Given the description of an element on the screen output the (x, y) to click on. 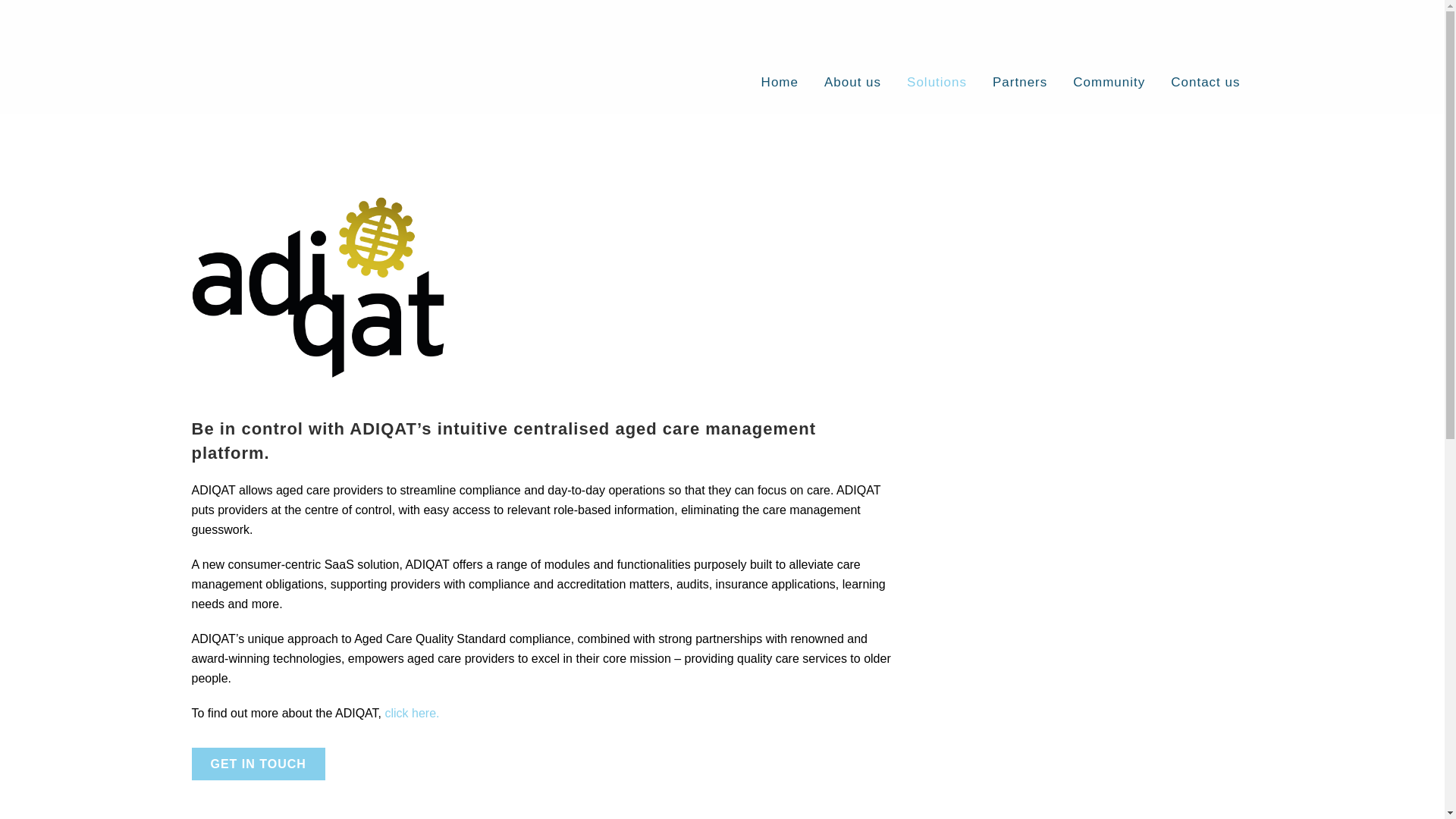
click here. (411, 712)
GET IN TOUCH (257, 763)
